Given the description of an element on the screen output the (x, y) to click on. 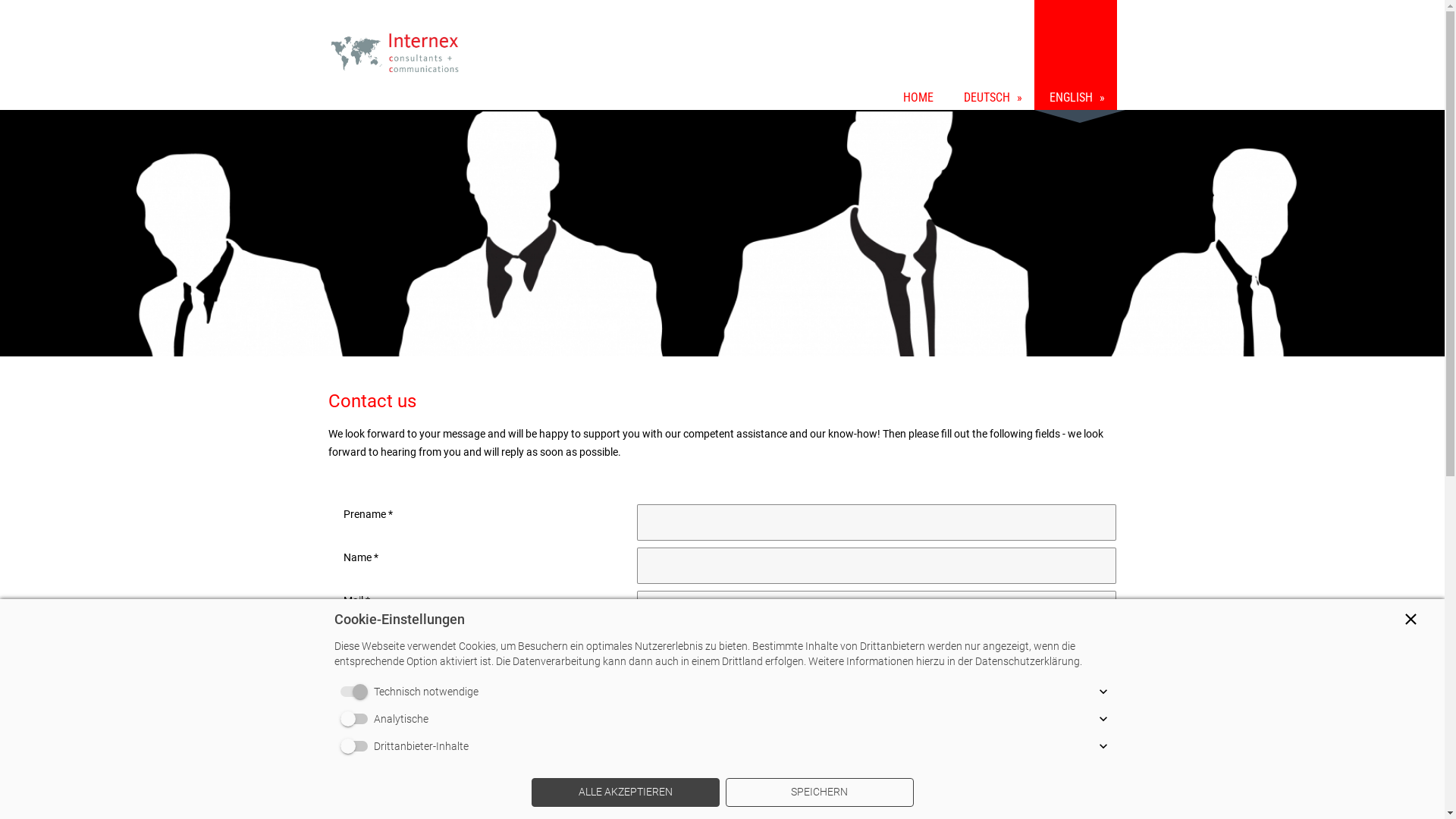
SPEICHERN Element type: text (818, 792)
HOME Element type: text (917, 54)
ALLE AKZEPTIEREN Element type: text (624, 792)
ENGLISH Element type: text (1075, 54)
DEUTSCH Element type: text (990, 54)
